Given the description of an element on the screen output the (x, y) to click on. 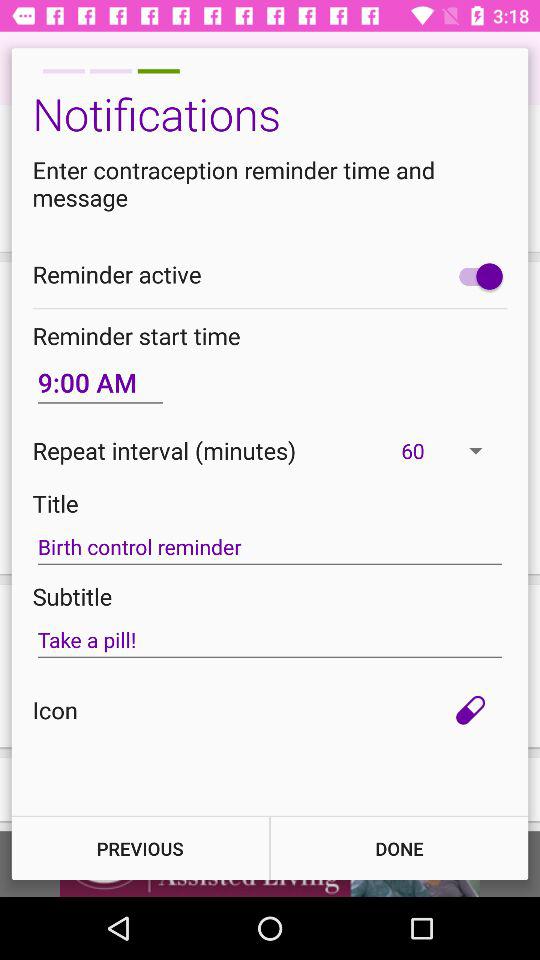
the reminder active toggle is on (476, 275)
